Given the description of an element on the screen output the (x, y) to click on. 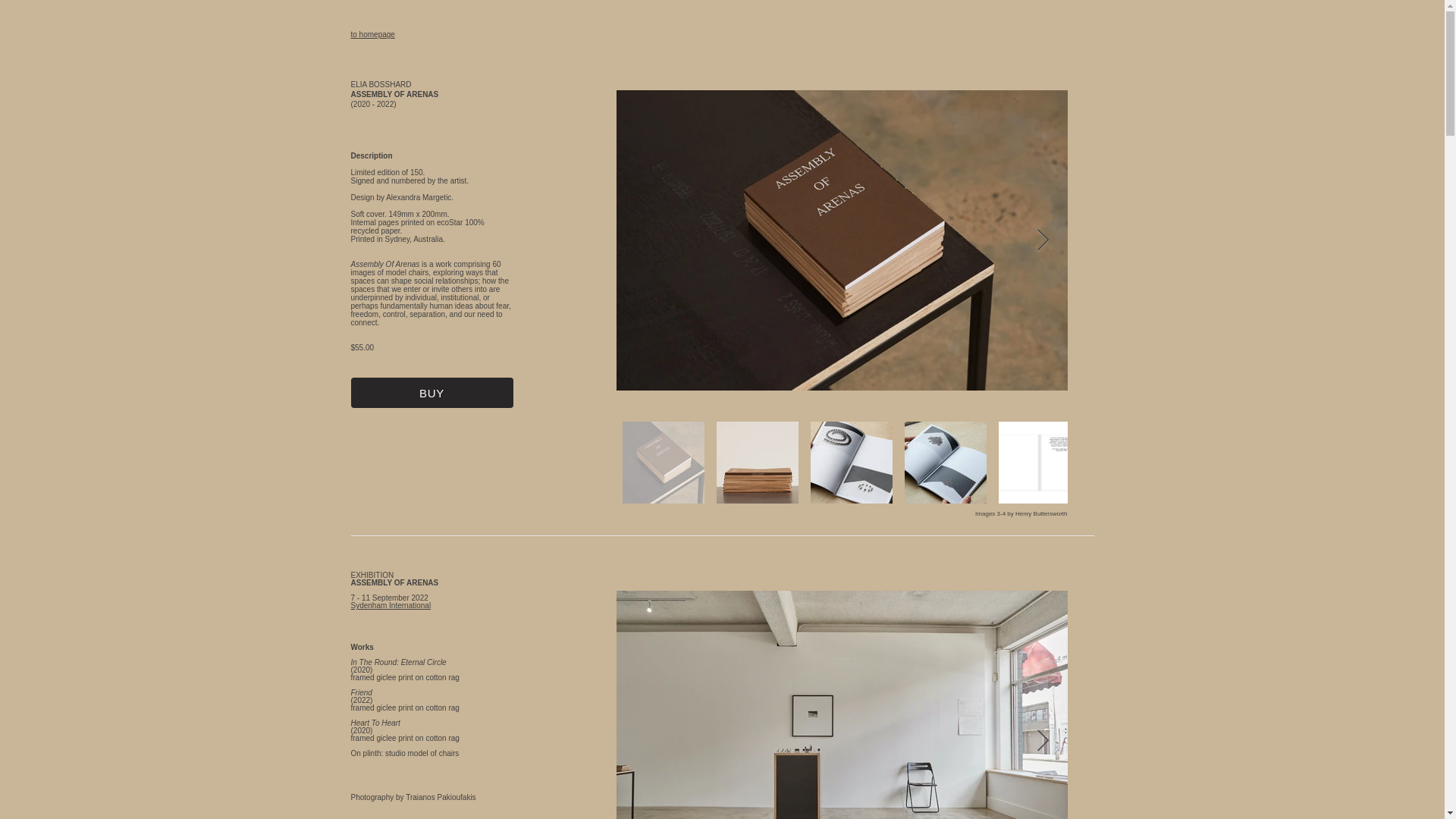
BUY (431, 392)
to homepage (372, 34)
Sydenham International (390, 605)
